Given the description of an element on the screen output the (x, y) to click on. 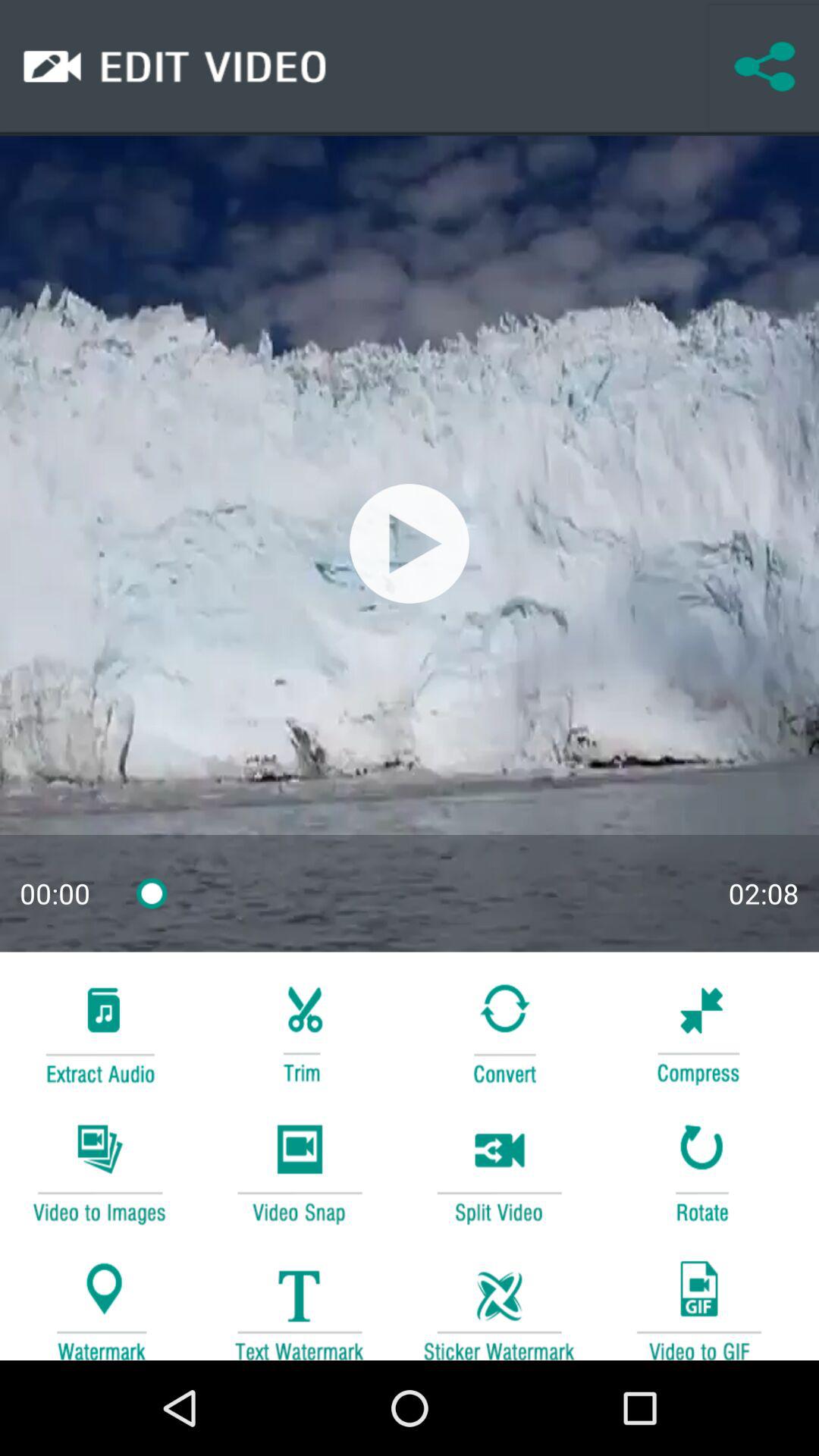
compress button (698, 1032)
